Given the description of an element on the screen output the (x, y) to click on. 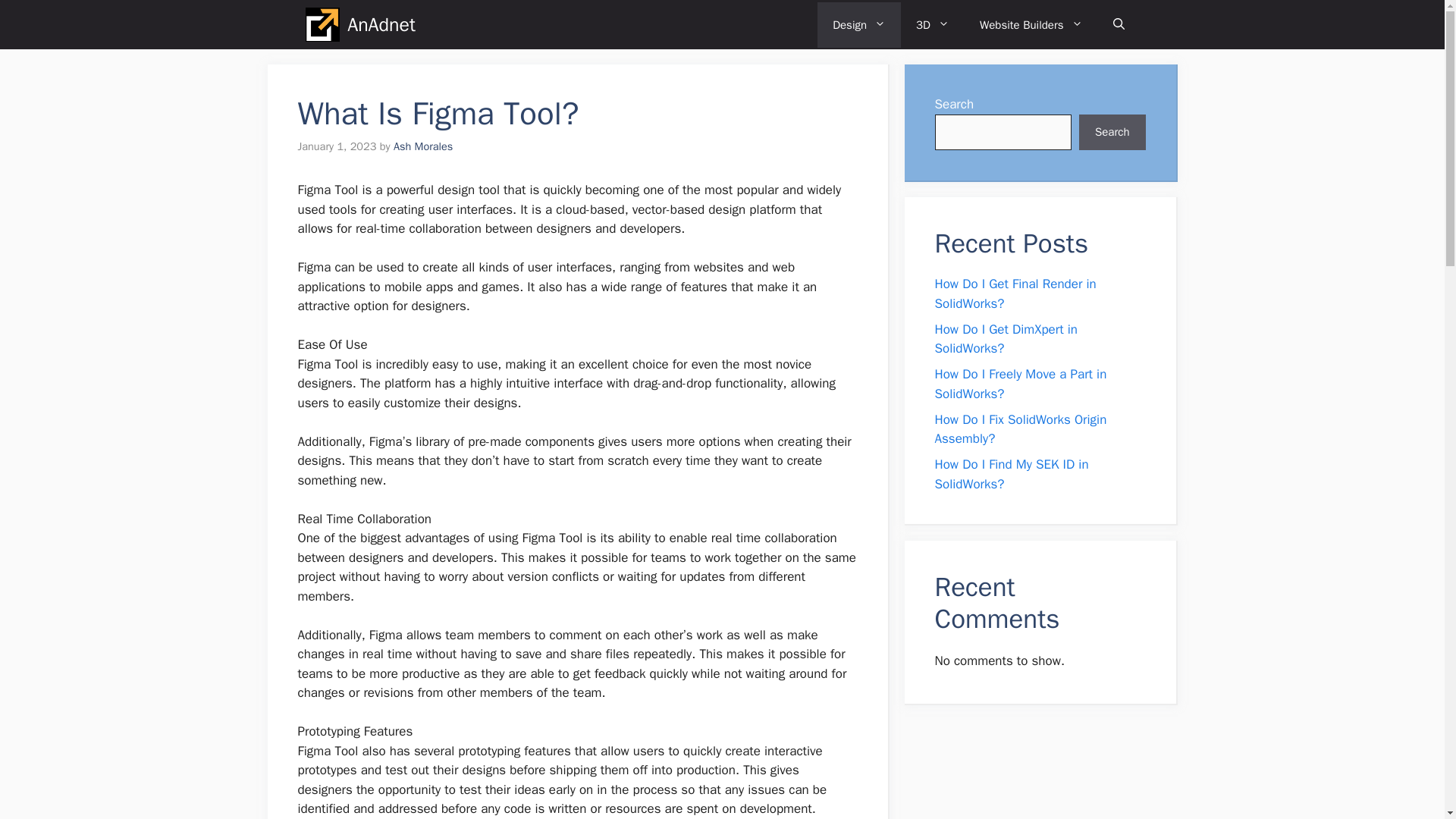
Website Builders (1030, 23)
Design (858, 23)
Ash Morales (422, 146)
How Do I Find My SEK ID in SolidWorks? (1010, 474)
How Do I Freely Move a Part in SolidWorks? (1020, 384)
AnAdnet (380, 24)
3D (932, 23)
How Do I Get DimXpert in SolidWorks? (1005, 339)
How Do I Get Final Render in SolidWorks? (1015, 294)
View all posts by Ash Morales (422, 146)
